Given the description of an element on the screen output the (x, y) to click on. 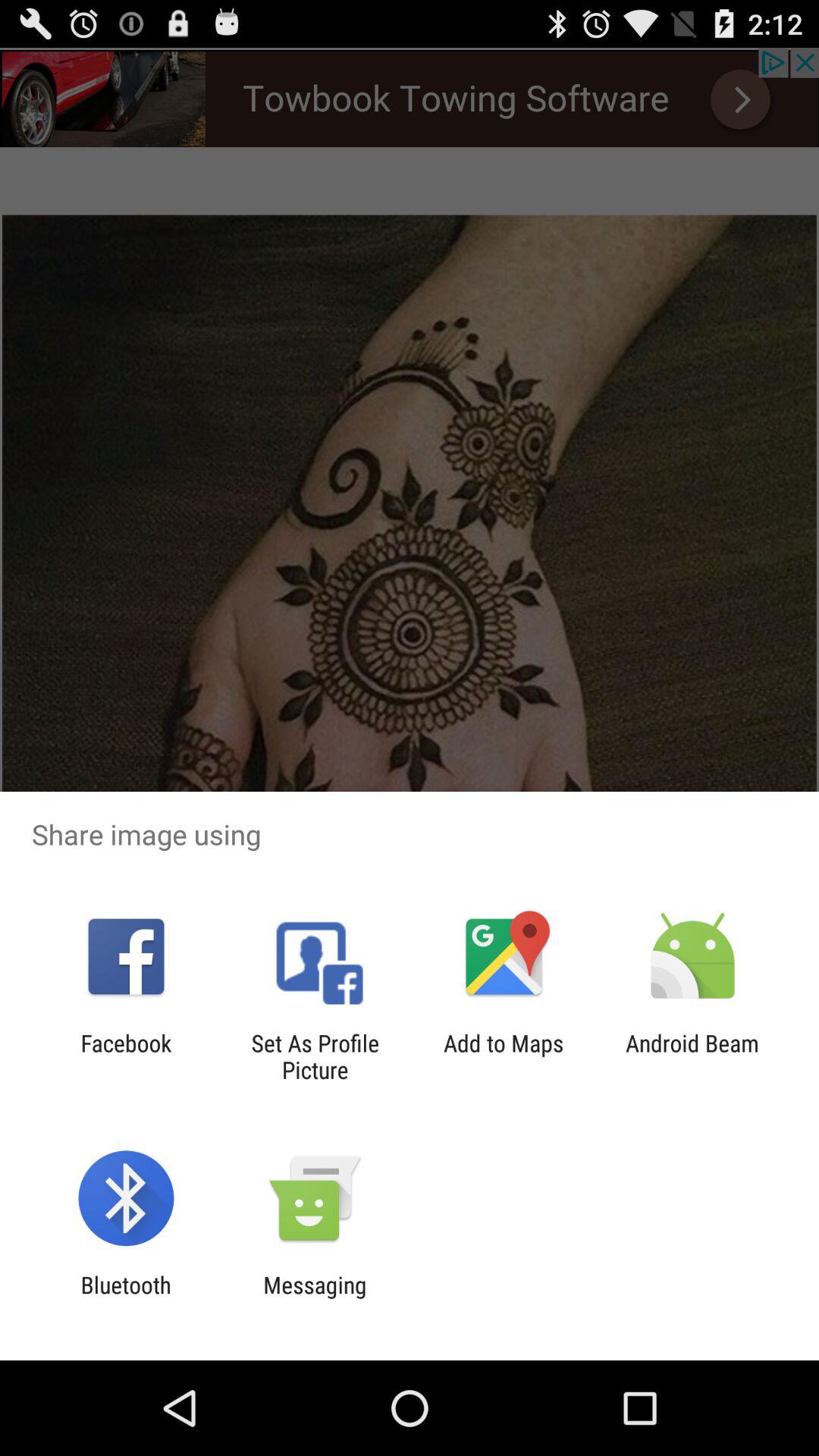
press the icon to the left of set as profile app (125, 1056)
